Given the description of an element on the screen output the (x, y) to click on. 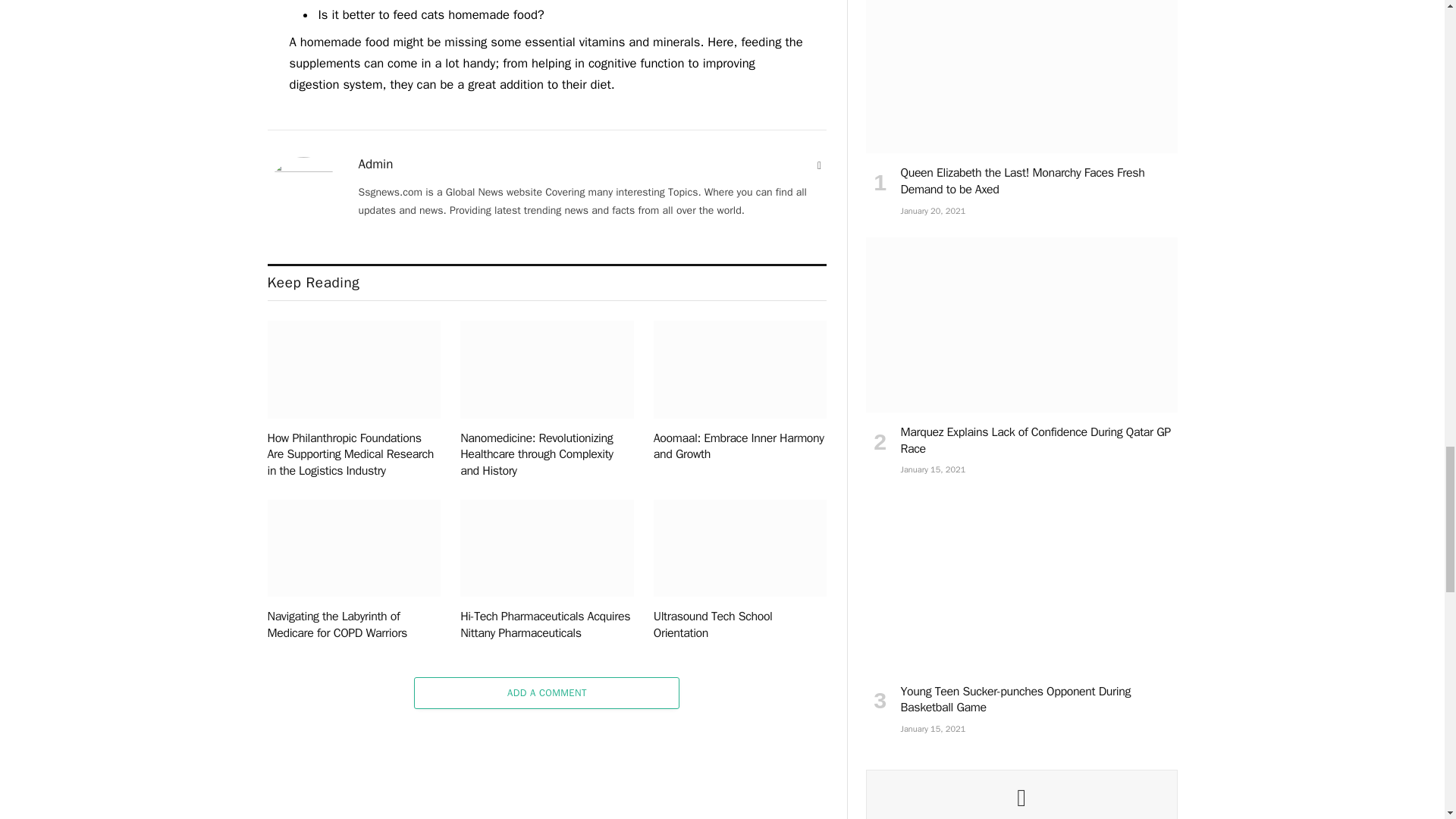
Website (818, 165)
Posts by Admin (375, 164)
